Given the description of an element on the screen output the (x, y) to click on. 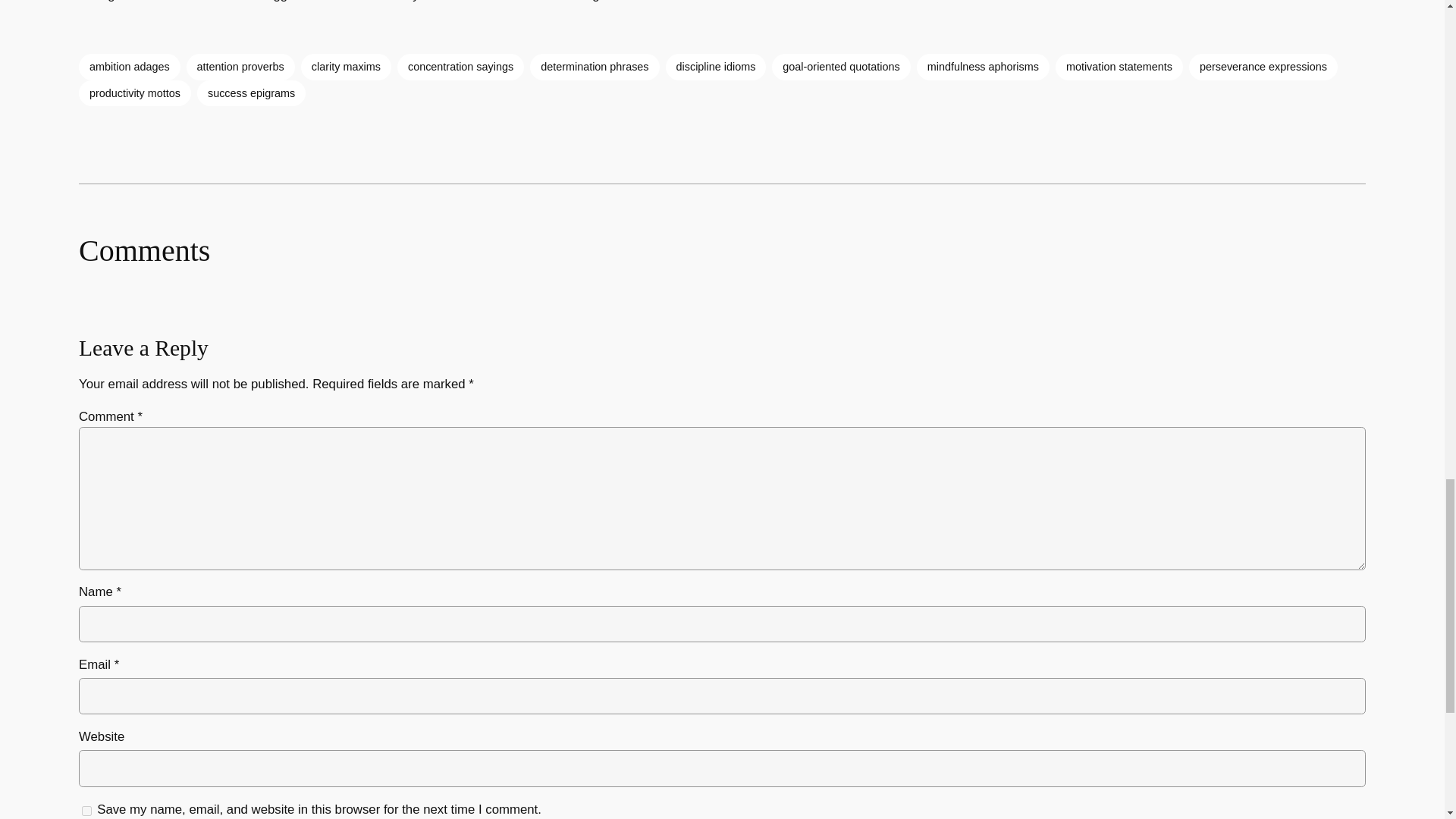
attention proverbs (240, 66)
productivity mottos (134, 93)
motivation statements (1118, 66)
mindfulness aphorisms (983, 66)
goal-oriented quotations (840, 66)
concentration sayings (460, 66)
ambition adages (129, 66)
clarity maxims (346, 66)
determination phrases (594, 66)
discipline idioms (716, 66)
perseverance expressions (1263, 66)
success epigrams (250, 93)
